Given the description of an element on the screen output the (x, y) to click on. 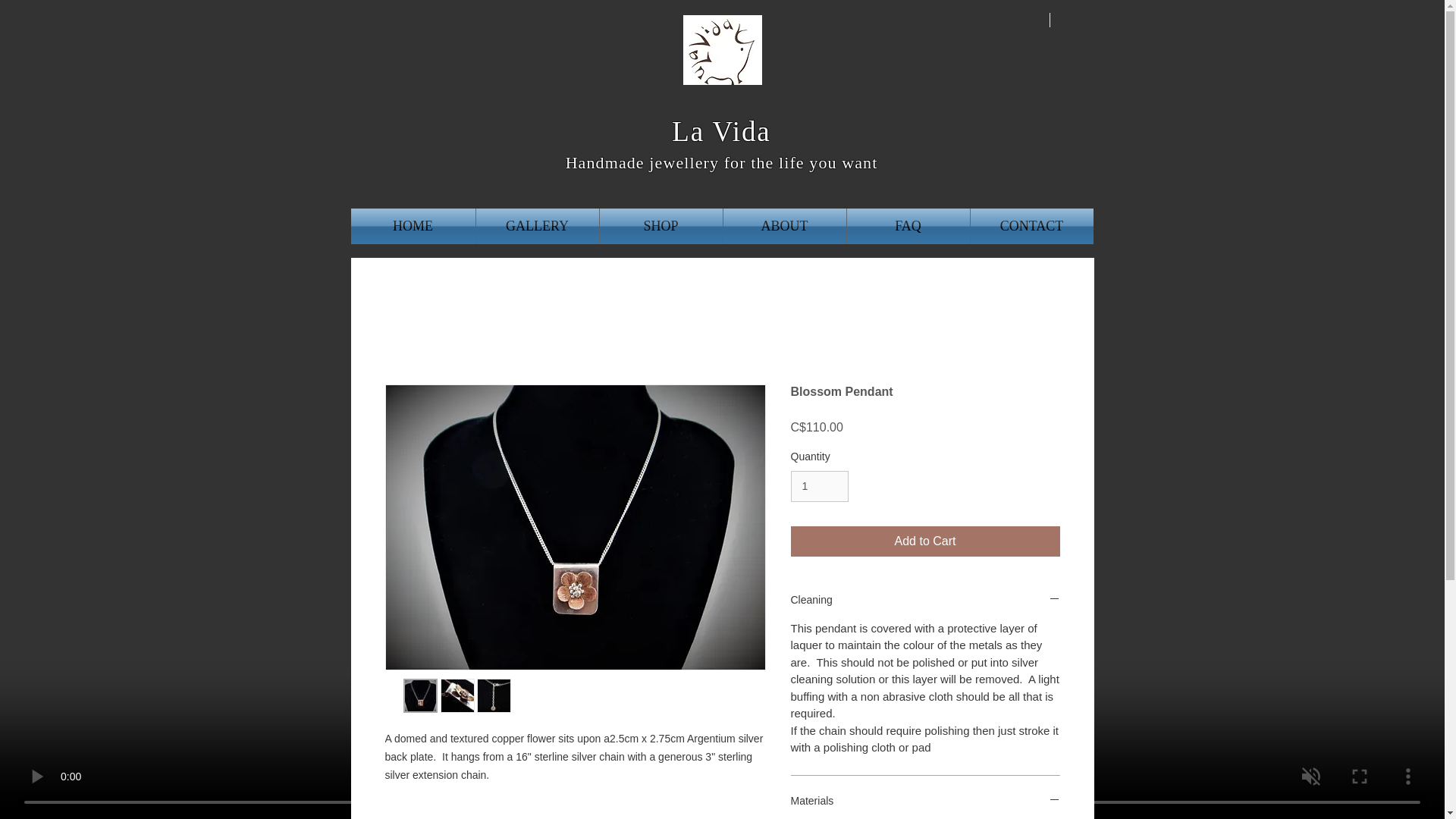
1 (818, 486)
HOME (412, 226)
GALLERY (537, 226)
ABOUT (784, 226)
CONTACT (1032, 226)
Beauty is everywhere.  You just need to look (721, 50)
La (687, 131)
SHOP (660, 226)
FAQ (907, 226)
Add to Cart (924, 541)
